Given the description of an element on the screen output the (x, y) to click on. 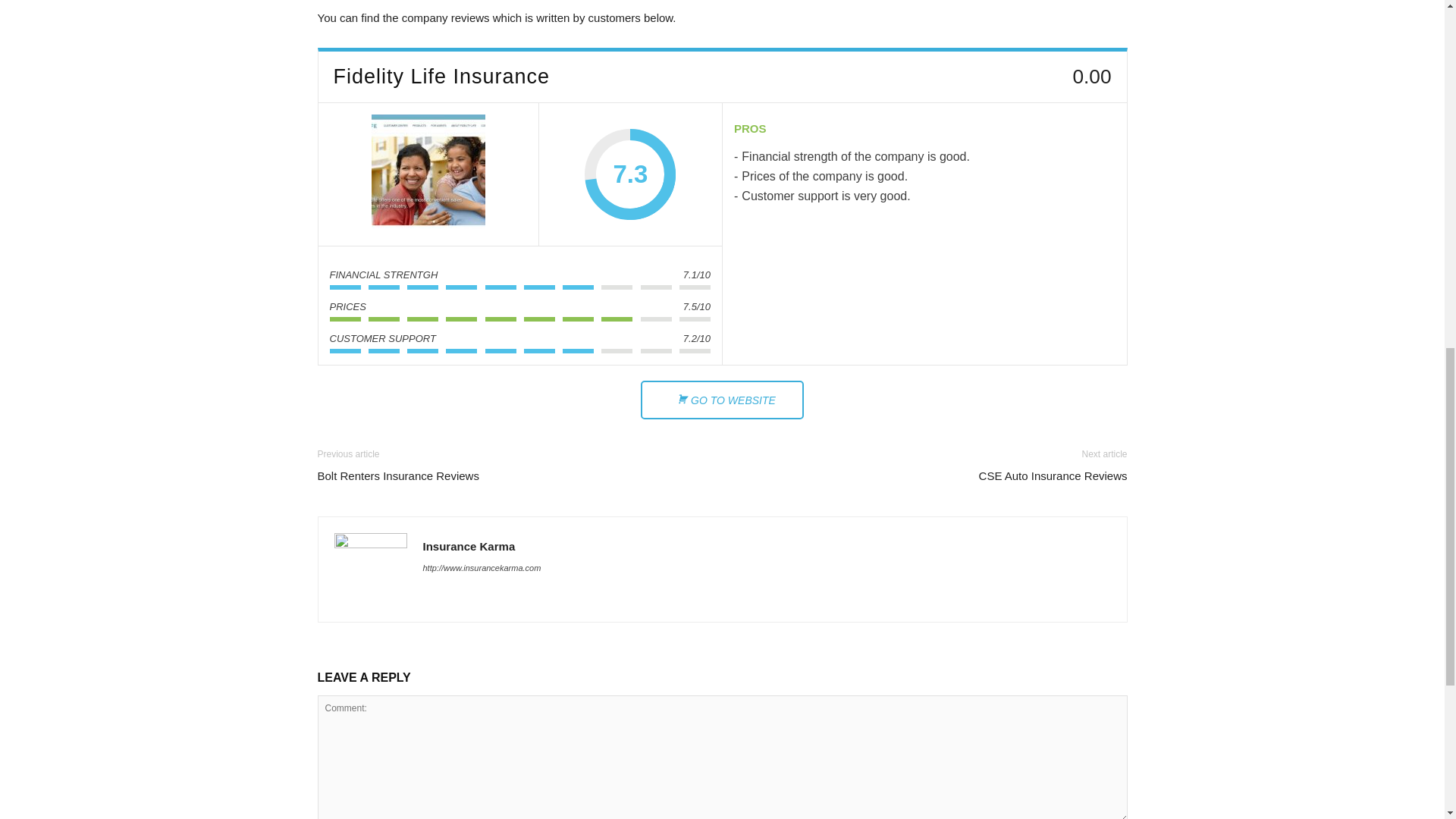
Fidelity Life Insurance (427, 174)
